Given the description of an element on the screen output the (x, y) to click on. 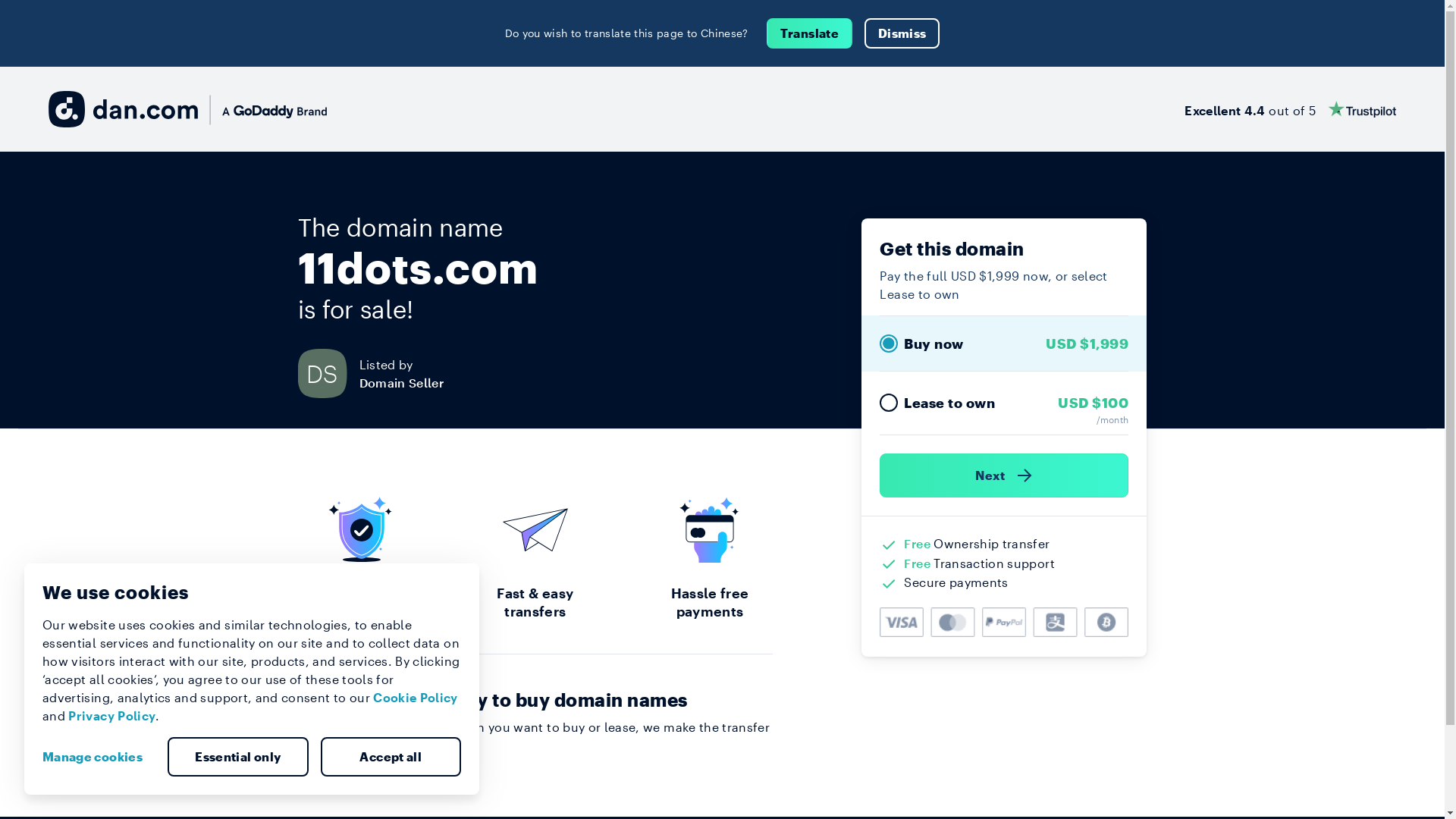
Excellent 4.4 out of 5 Element type: text (1290, 109)
Privacy Policy Element type: text (111, 715)
Accept all Element type: text (390, 756)
Translate Element type: text (809, 33)
Cookie Policy Element type: text (415, 697)
Dismiss Element type: text (901, 33)
Essential only Element type: text (237, 756)
Manage cookies Element type: text (98, 756)
Next
) Element type: text (1003, 475)
